Given the description of an element on the screen output the (x, y) to click on. 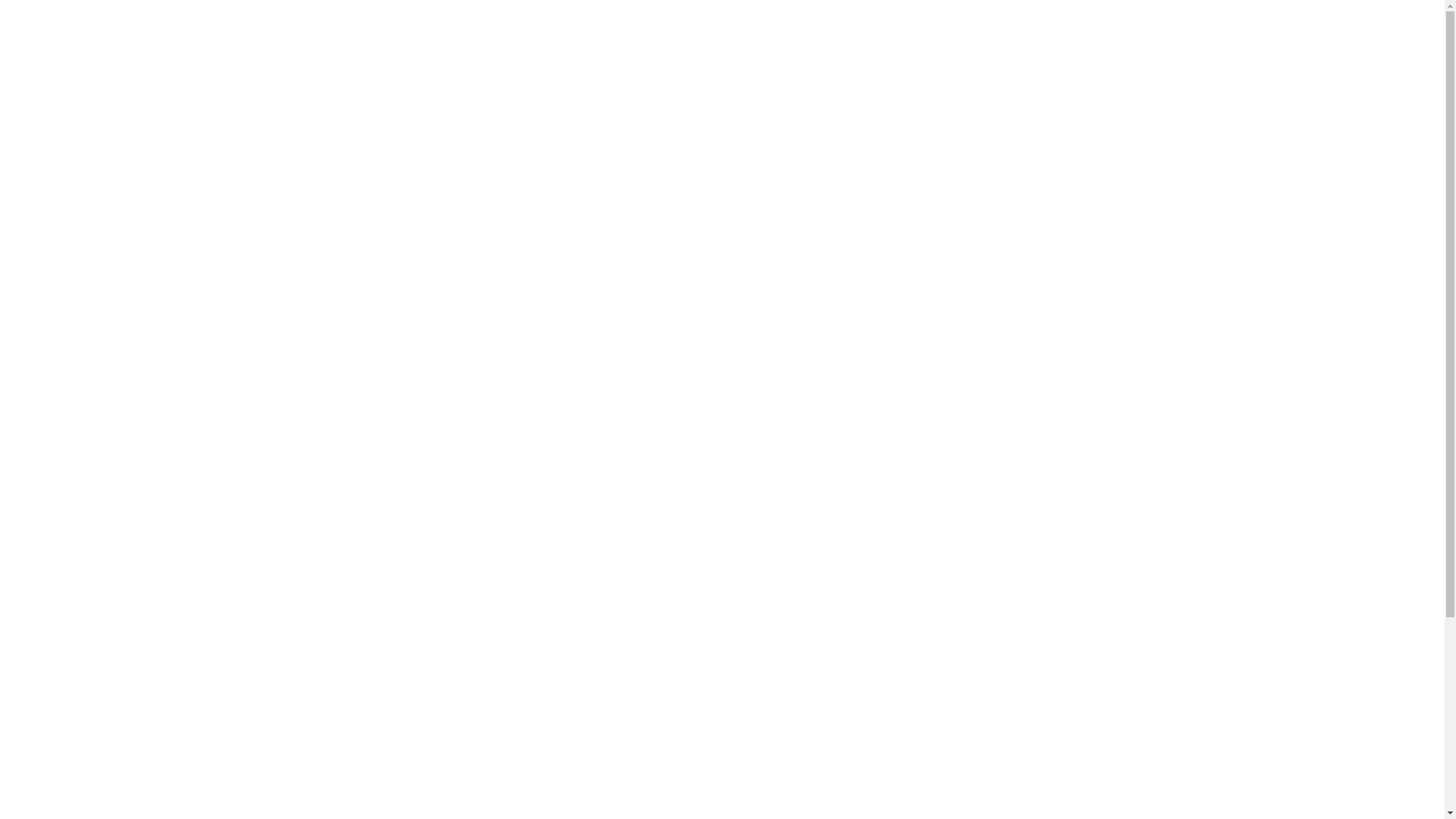
virtualrealporn Element type: text (413, 679)
+ Element type: text (1134, 75)
